Given the description of an element on the screen output the (x, y) to click on. 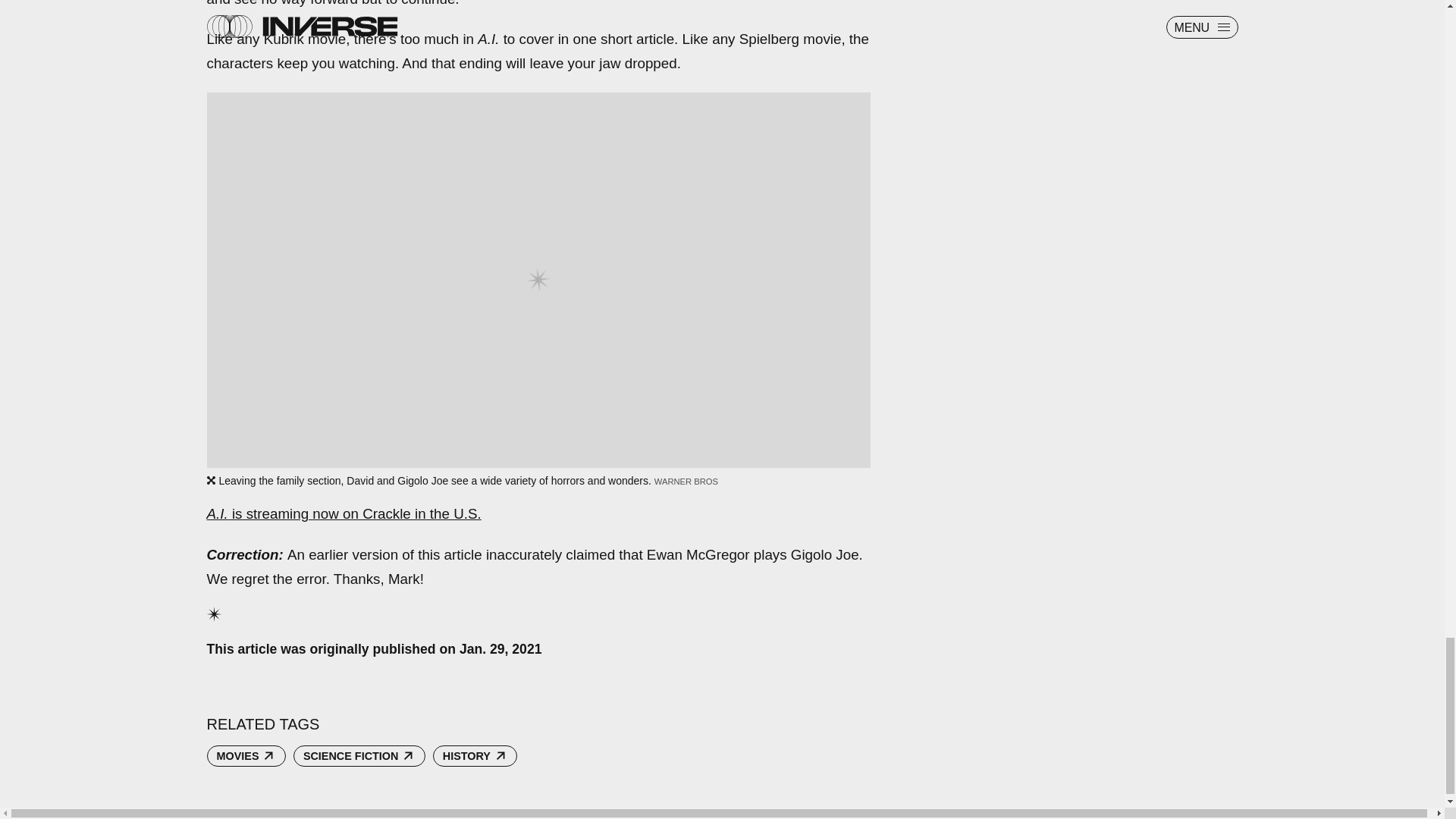
SCIENCE FICTION (359, 755)
HISTORY (475, 755)
MOVIES (245, 755)
